Given the description of an element on the screen output the (x, y) to click on. 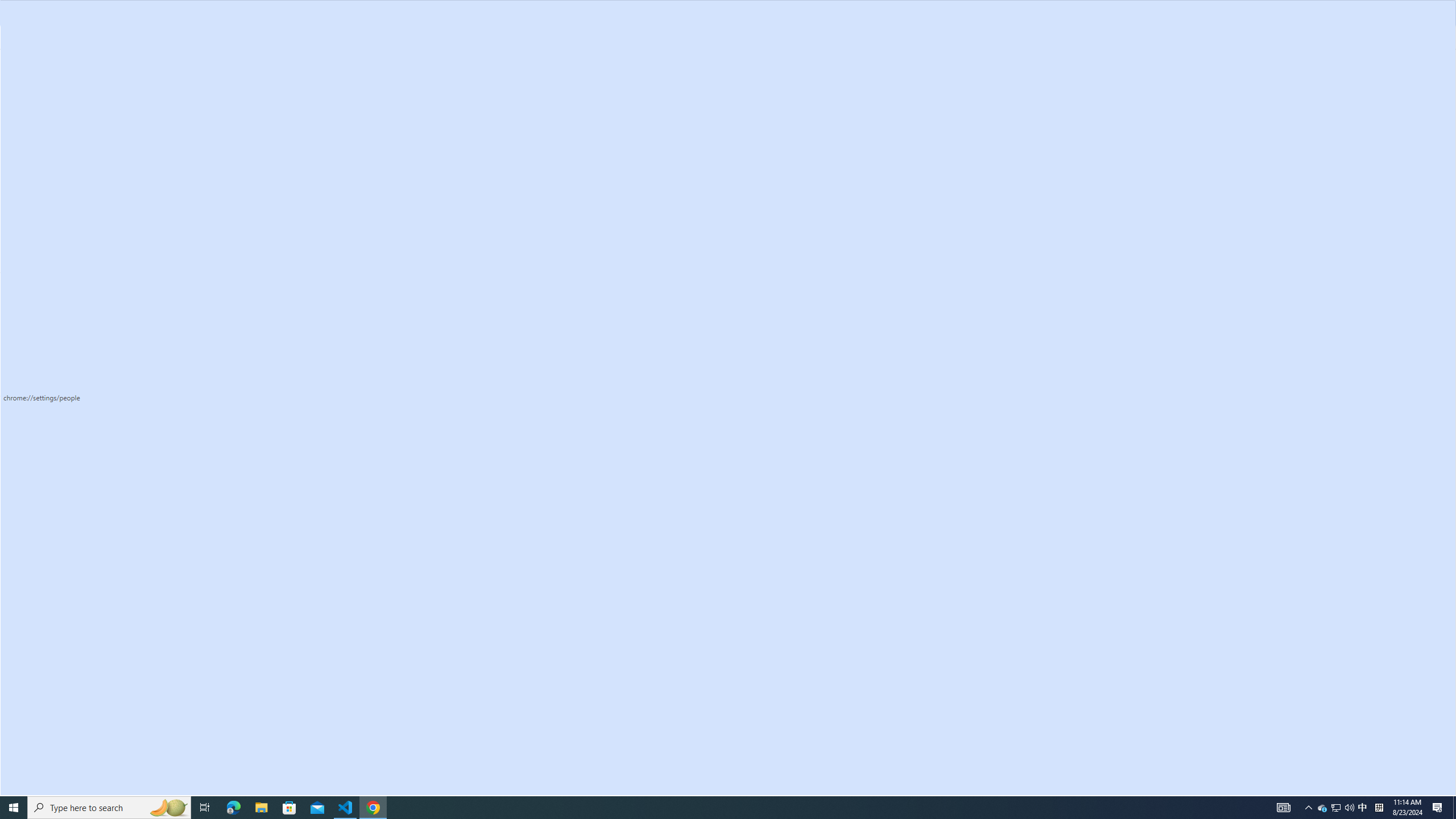
Appearance (70, 187)
Reset settings (70, 379)
About Chrome (70, 434)
Performance (70, 164)
Import bookmarks and settings (904, 357)
Customize your Chrome profile (904, 330)
Privacy and security (70, 142)
Default browser (70, 233)
